Given the description of an element on the screen output the (x, y) to click on. 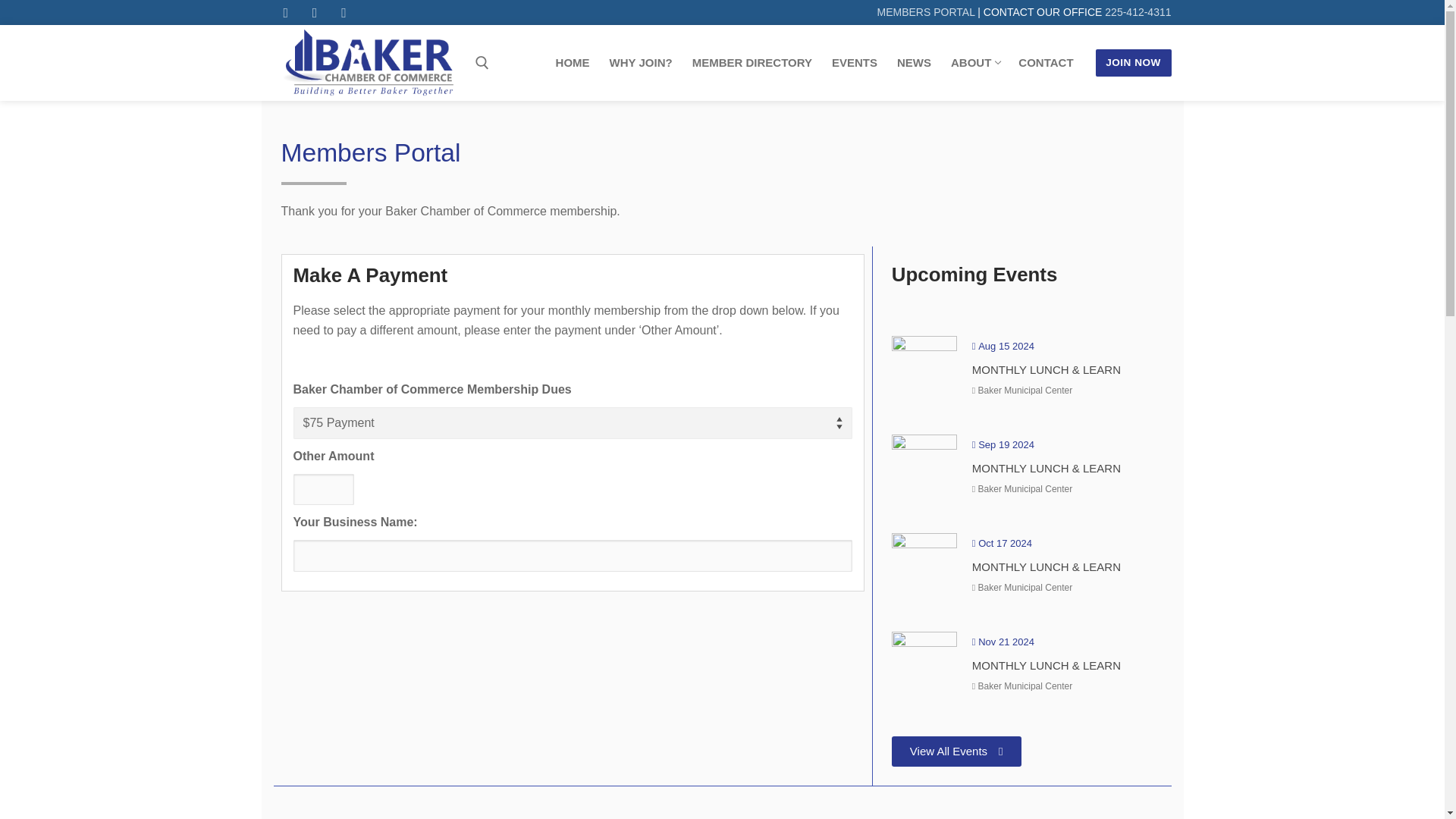
View All Events (956, 751)
WHY JOIN? (640, 61)
HOME (572, 61)
225-412-4311 (1137, 11)
EVENTS (854, 61)
CONTACT (1046, 61)
MEMBER DIRECTORY (752, 61)
MEMBERS PORTAL (926, 11)
Other Amount (322, 490)
